Given the description of an element on the screen output the (x, y) to click on. 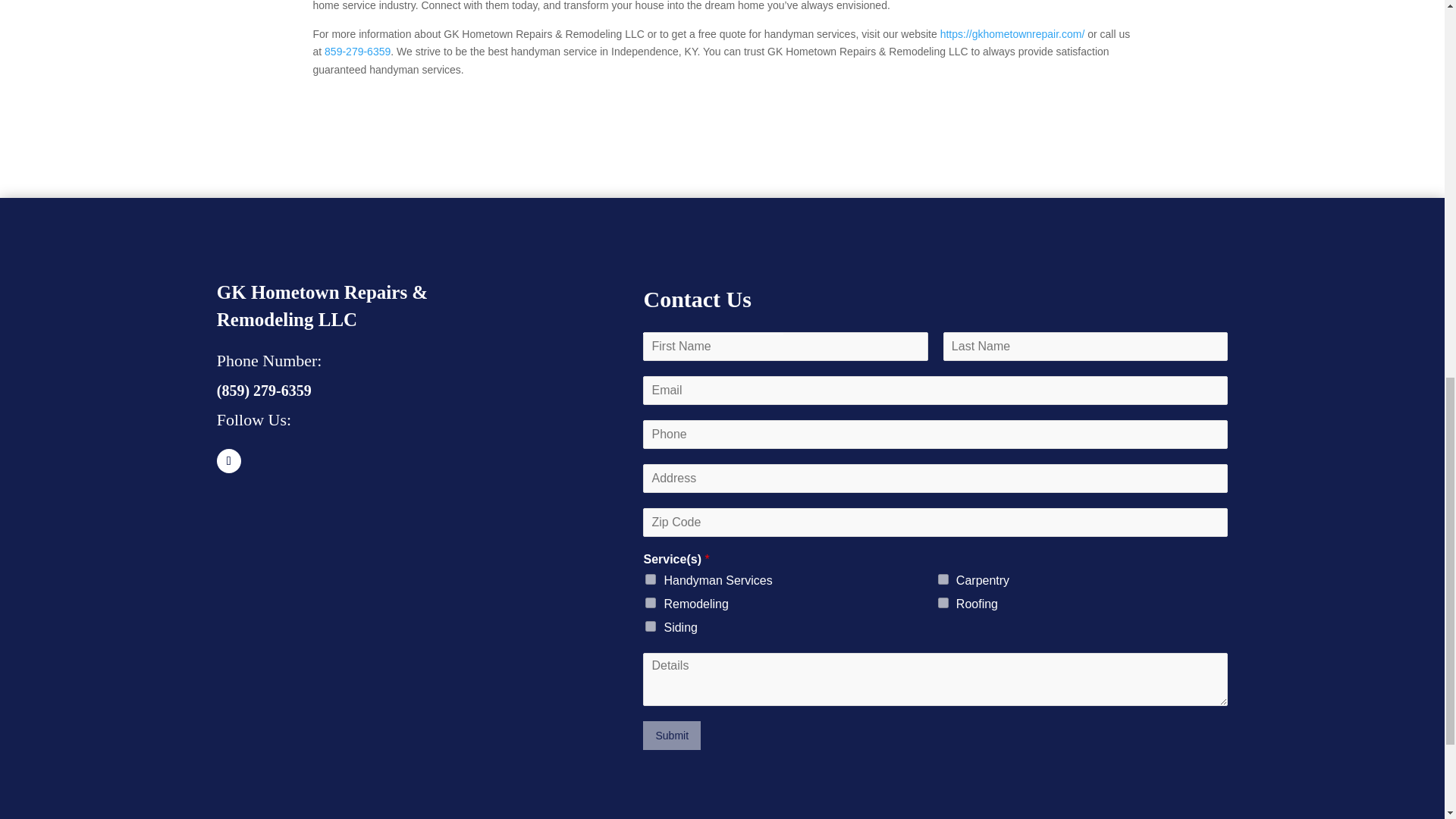
Follow on Facebook (228, 460)
Roofing (943, 602)
Submit (671, 735)
Carpentry (943, 579)
Remodeling (650, 602)
Handyman Services (650, 579)
Siding (650, 625)
859-279-6359 (357, 51)
